Given the description of an element on the screen output the (x, y) to click on. 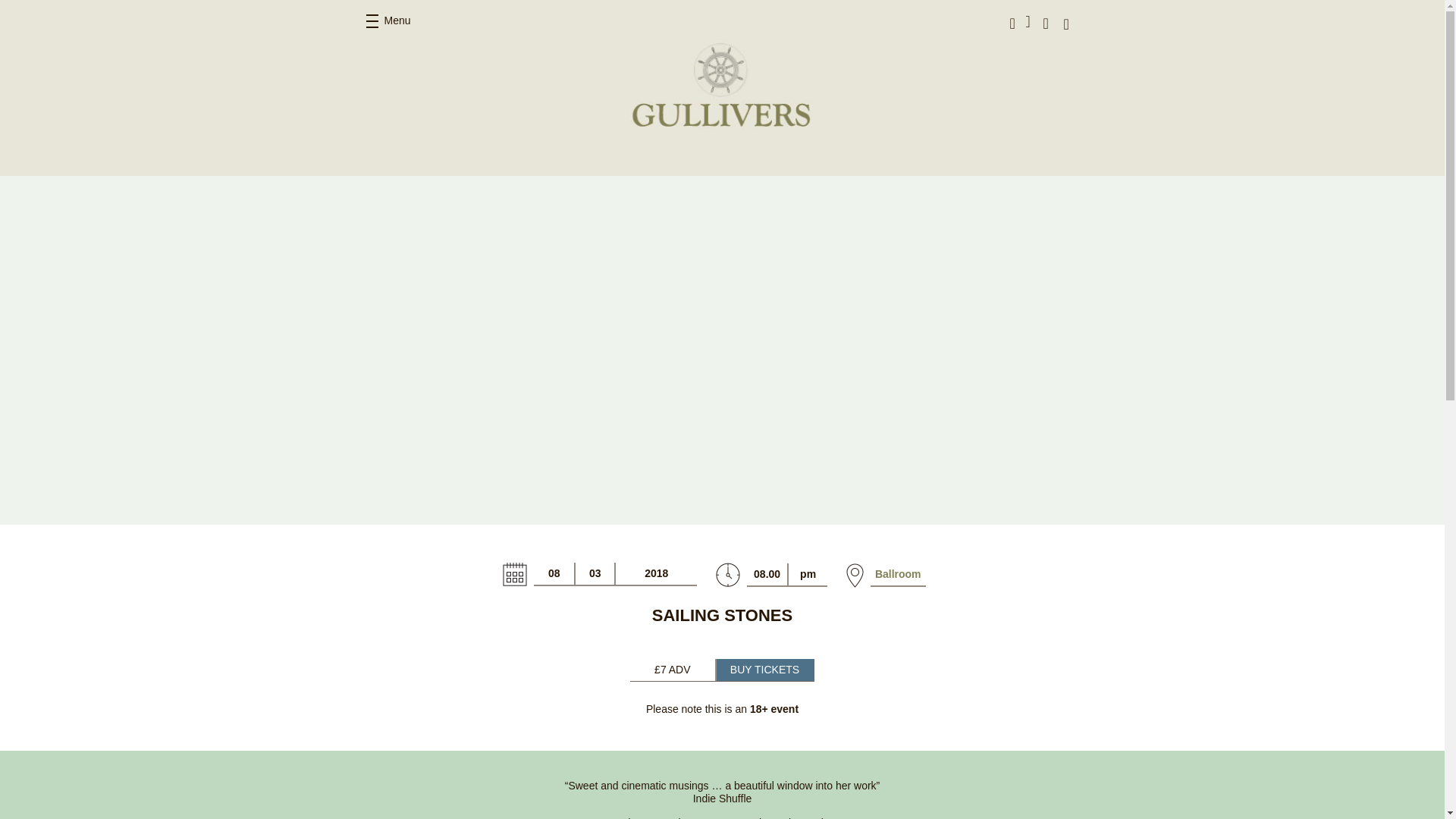
submit (1125, 22)
Menu (387, 20)
BUY TICKETS (763, 669)
